Given the description of an element on the screen output the (x, y) to click on. 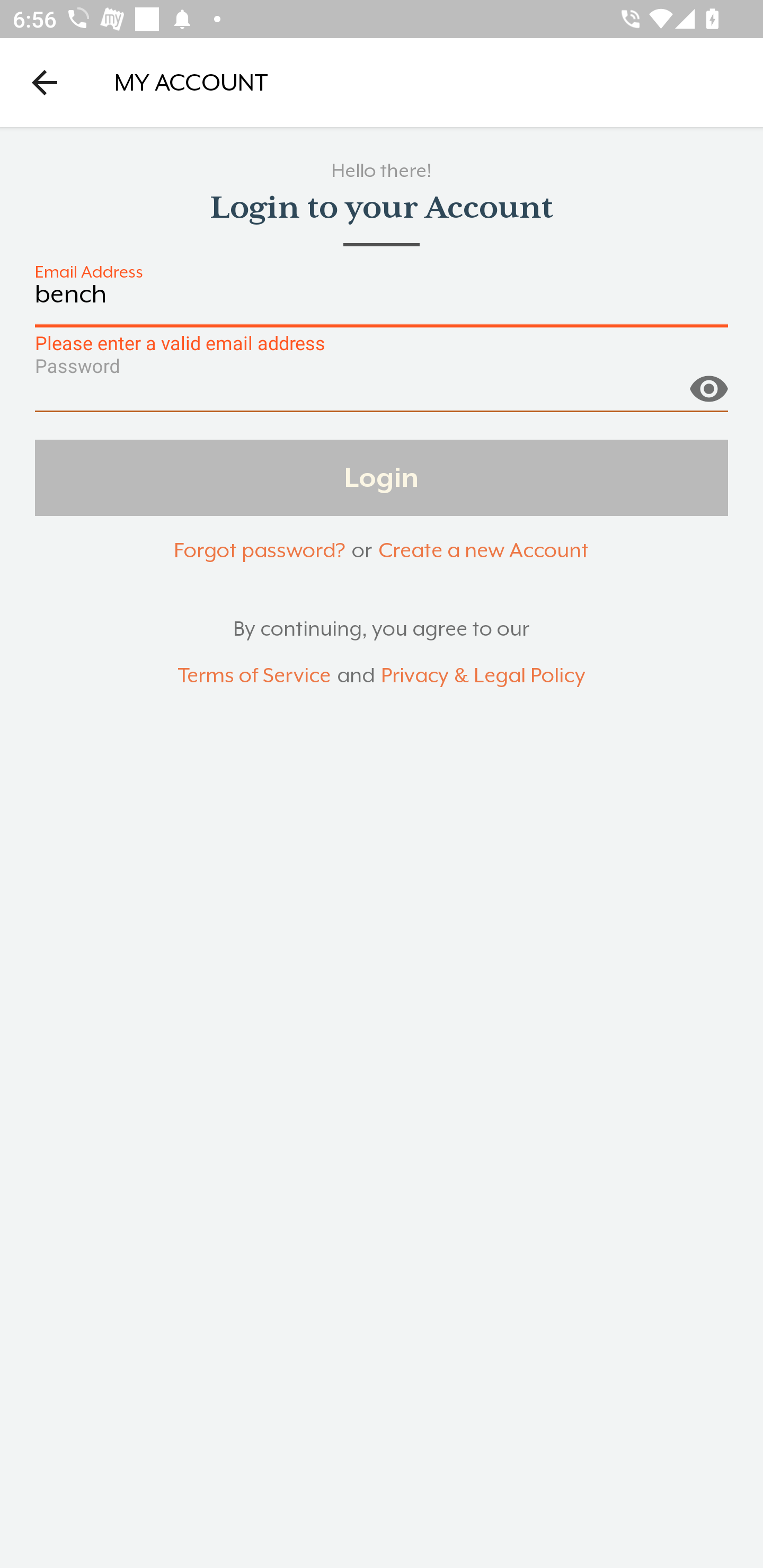
Navigate up (44, 82)
bench (381, 304)
 (708, 381)
Password (381, 393)
Login (381, 477)
Forgot password? (259, 550)
Create a new Account (483, 550)
Terms of Service (253, 675)
Privacy & Legal Policy (483, 675)
